Given the description of an element on the screen output the (x, y) to click on. 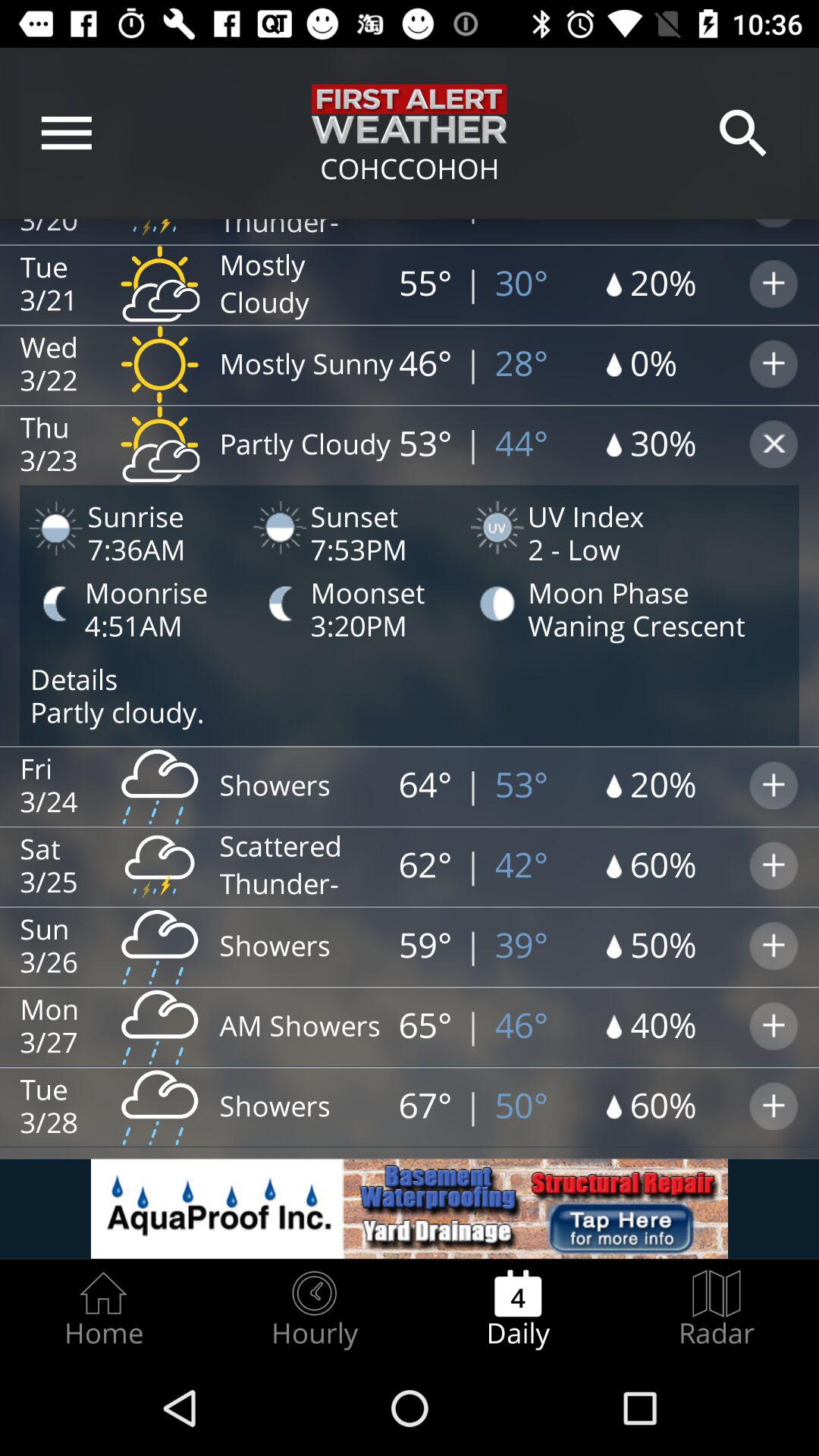
click on the search icon on the top right of the webpage (743, 133)
